Given the description of an element on the screen output the (x, y) to click on. 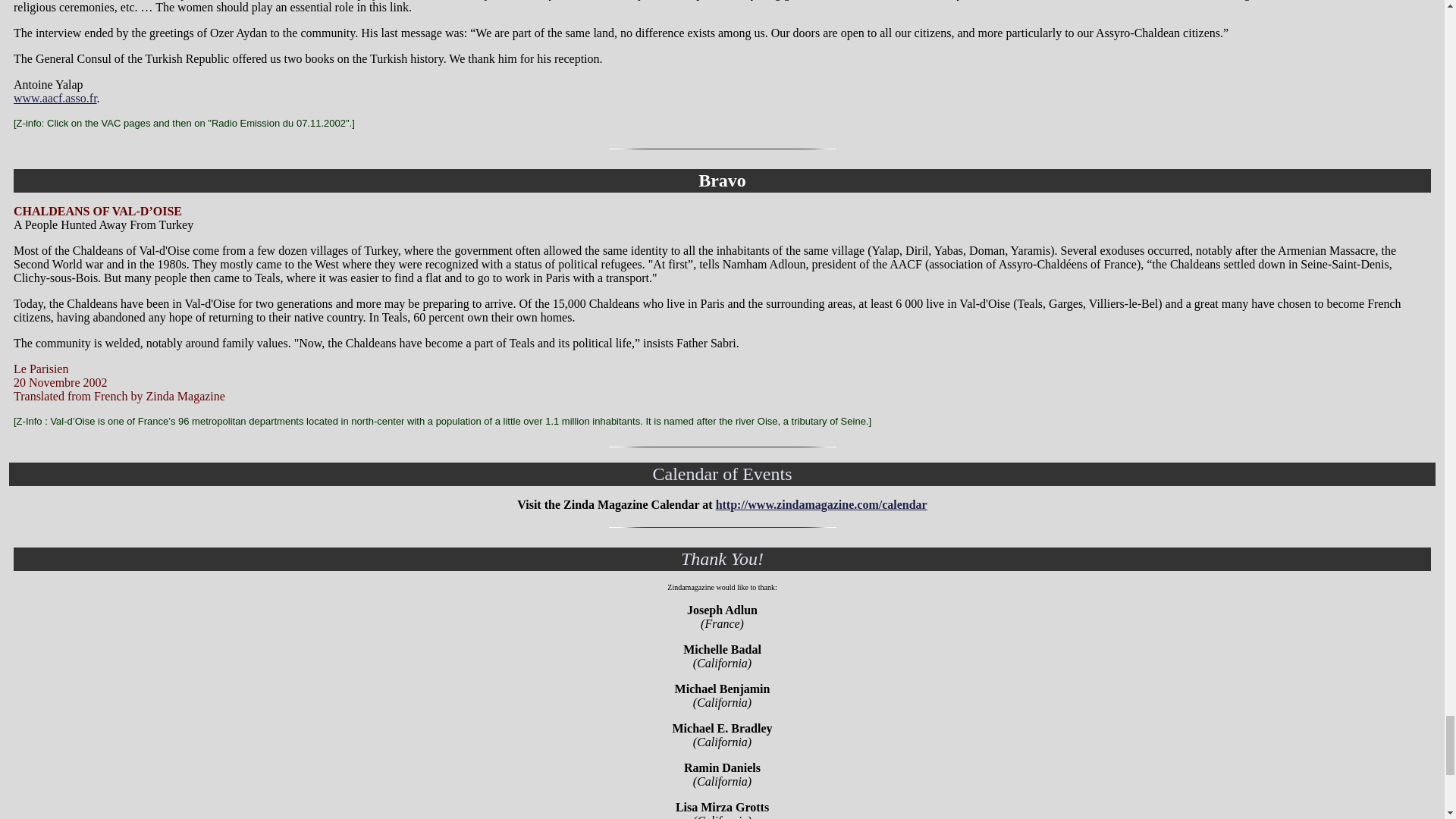
www.aacf.asso.fr (55, 97)
